Given the description of an element on the screen output the (x, y) to click on. 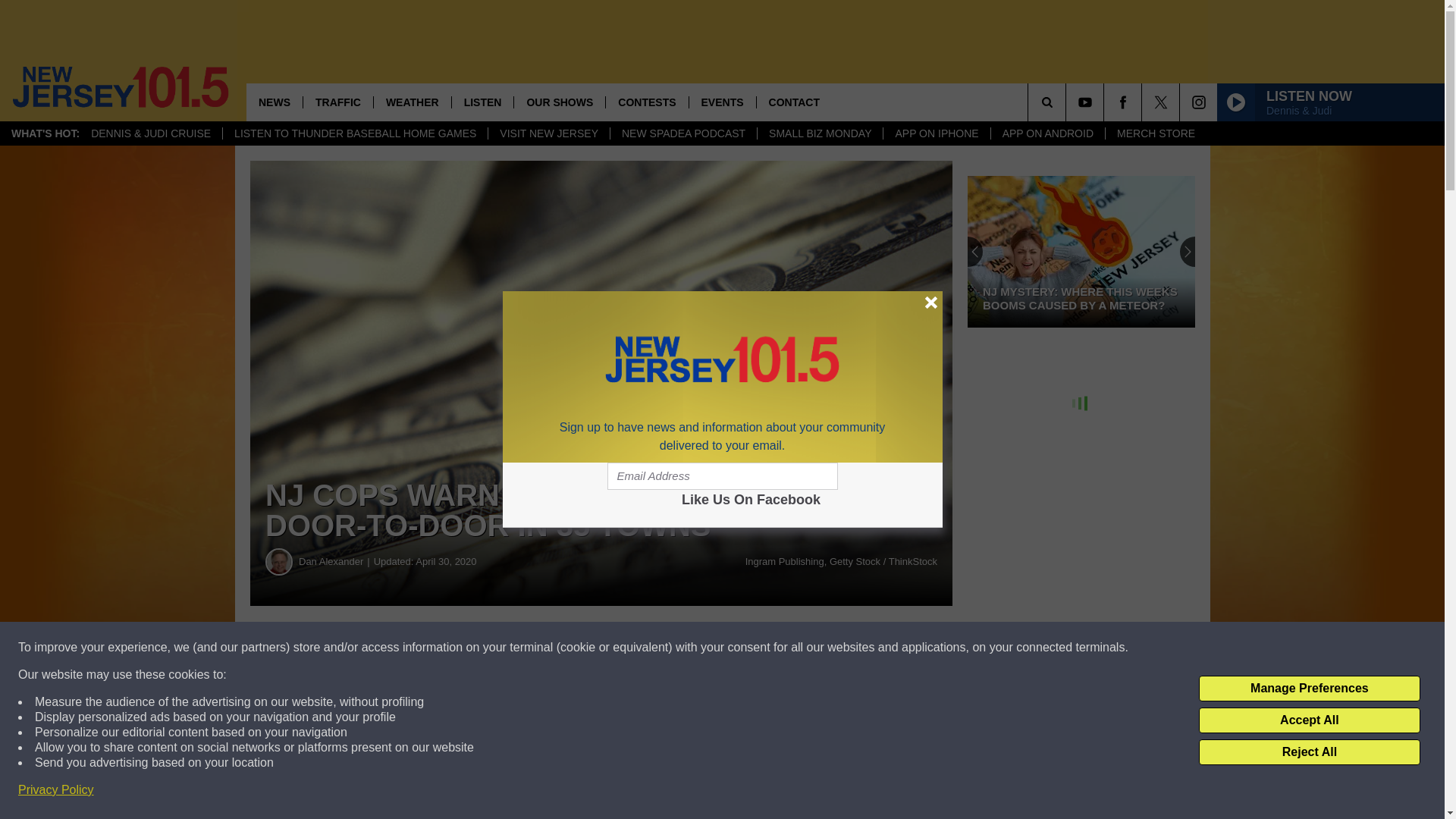
VISIT NEW JERSEY (548, 133)
Privacy Policy (55, 789)
WEATHER (411, 102)
APP ON ANDROID (1047, 133)
TRAFFIC (337, 102)
Share on Twitter (741, 647)
APP ON IPHONE (936, 133)
SMALL BIZ MONDAY (819, 133)
MERCH STORE (1156, 133)
Accept All (1309, 720)
SEARCH (1068, 102)
LISTEN (482, 102)
Reject All (1309, 751)
NEWS (274, 102)
NEW SPADEA PODCAST (683, 133)
